Given the description of an element on the screen output the (x, y) to click on. 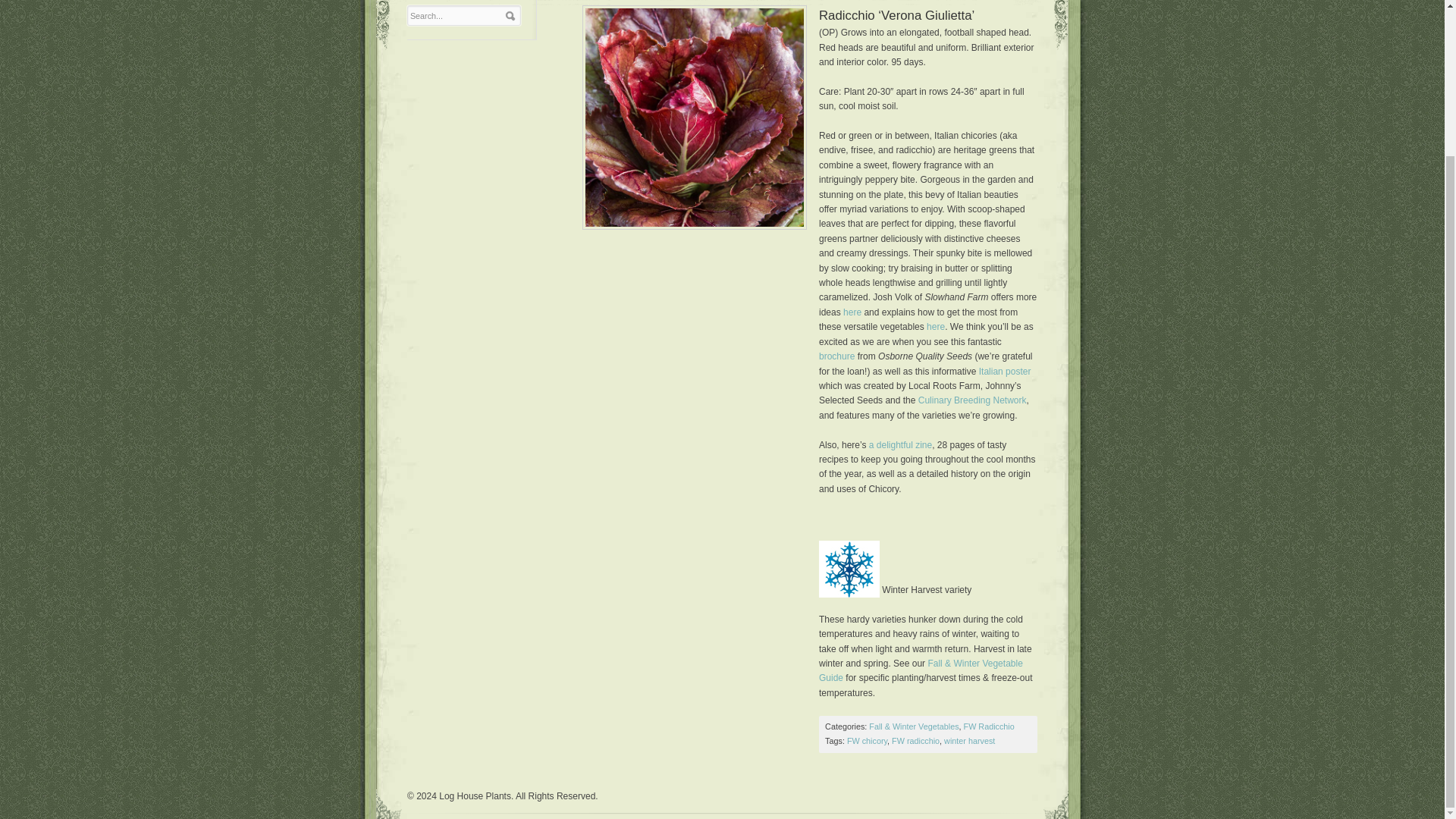
winter (848, 568)
Search... (456, 15)
